Given the description of an element on the screen output the (x, y) to click on. 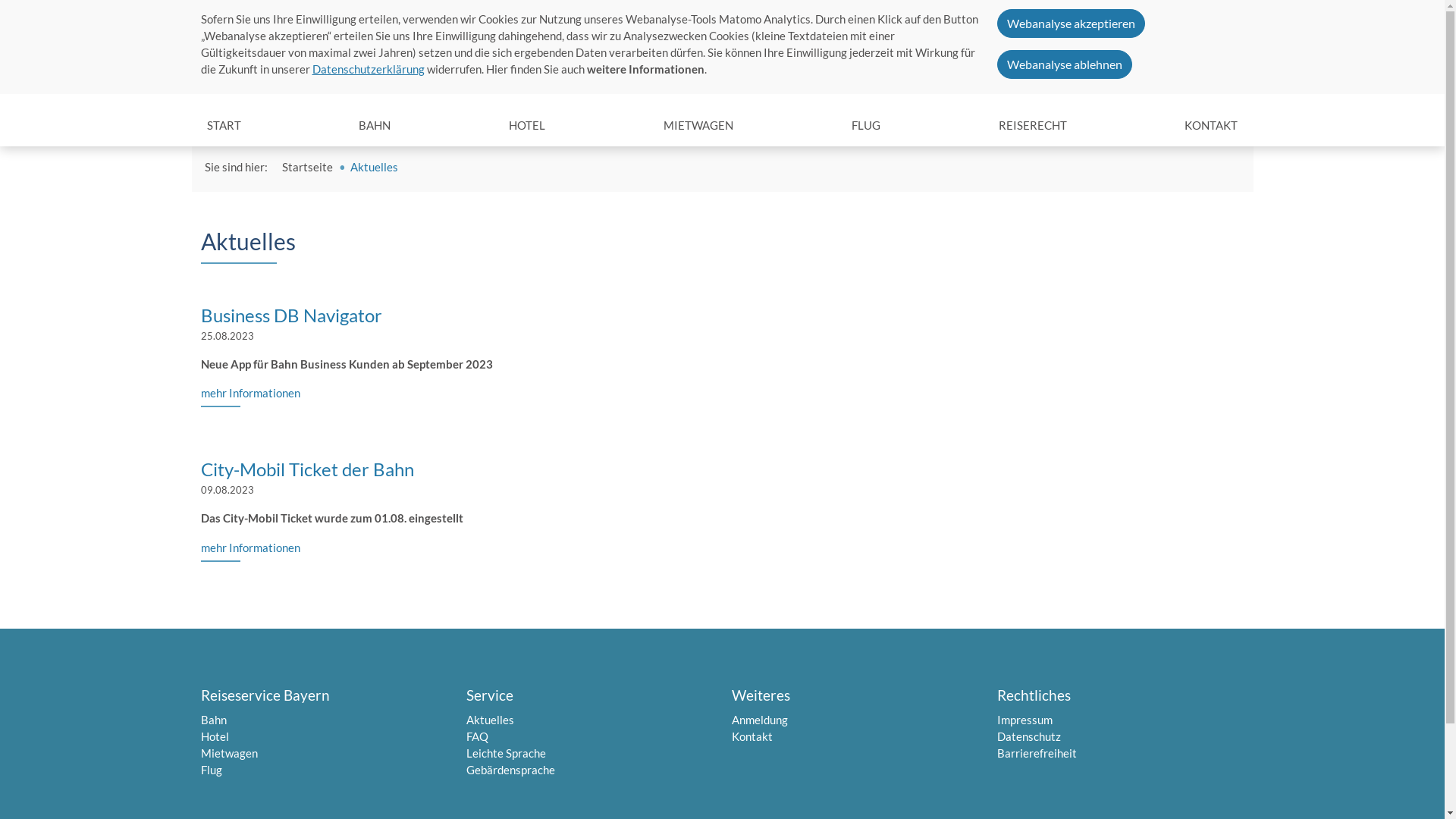
Business DB Navigator Element type: text (290, 315)
Mietwagen Element type: text (228, 752)
Webanalyse ablehnen Element type: text (1063, 64)
Bahn Element type: text (212, 719)
Hotel Element type: text (214, 736)
Barrierefreiheit Element type: text (1036, 752)
Suche Element type: text (1229, 14)
Impressum Element type: text (1023, 719)
Aktuelles
(aktiv) Element type: text (923, 14)
Datenschutz Element type: text (1028, 736)
Flug Element type: text (210, 769)
City-Mobil Ticket der Bahn Element type: text (306, 469)
START Element type: text (223, 126)
REISERECHT Element type: text (1032, 126)
FAQ Element type: text (981, 14)
KONTAKT Element type: text (1210, 126)
FLUG Element type: text (865, 126)
Aktuelles Element type: text (489, 719)
Webanalyse akzeptieren Element type: text (1070, 23)
mehr Informationen
City-Mobil Ticket der Bahn ) Element type: text (249, 549)
MIETWAGEN Element type: text (698, 126)
Kontakt Element type: text (751, 736)
Zur Startseite Reiseservice Bayern Element type: hover (251, 67)
mehr Informationen
Business DB Navigator ) Element type: text (249, 395)
BAHN Element type: text (374, 126)
Leichte Sprache Element type: text (505, 752)
Anmeldung Element type: text (759, 719)
FAQ Element type: text (476, 736)
HOTEL Element type: text (526, 126)
Startseite Element type: text (307, 166)
